Given the description of an element on the screen output the (x, y) to click on. 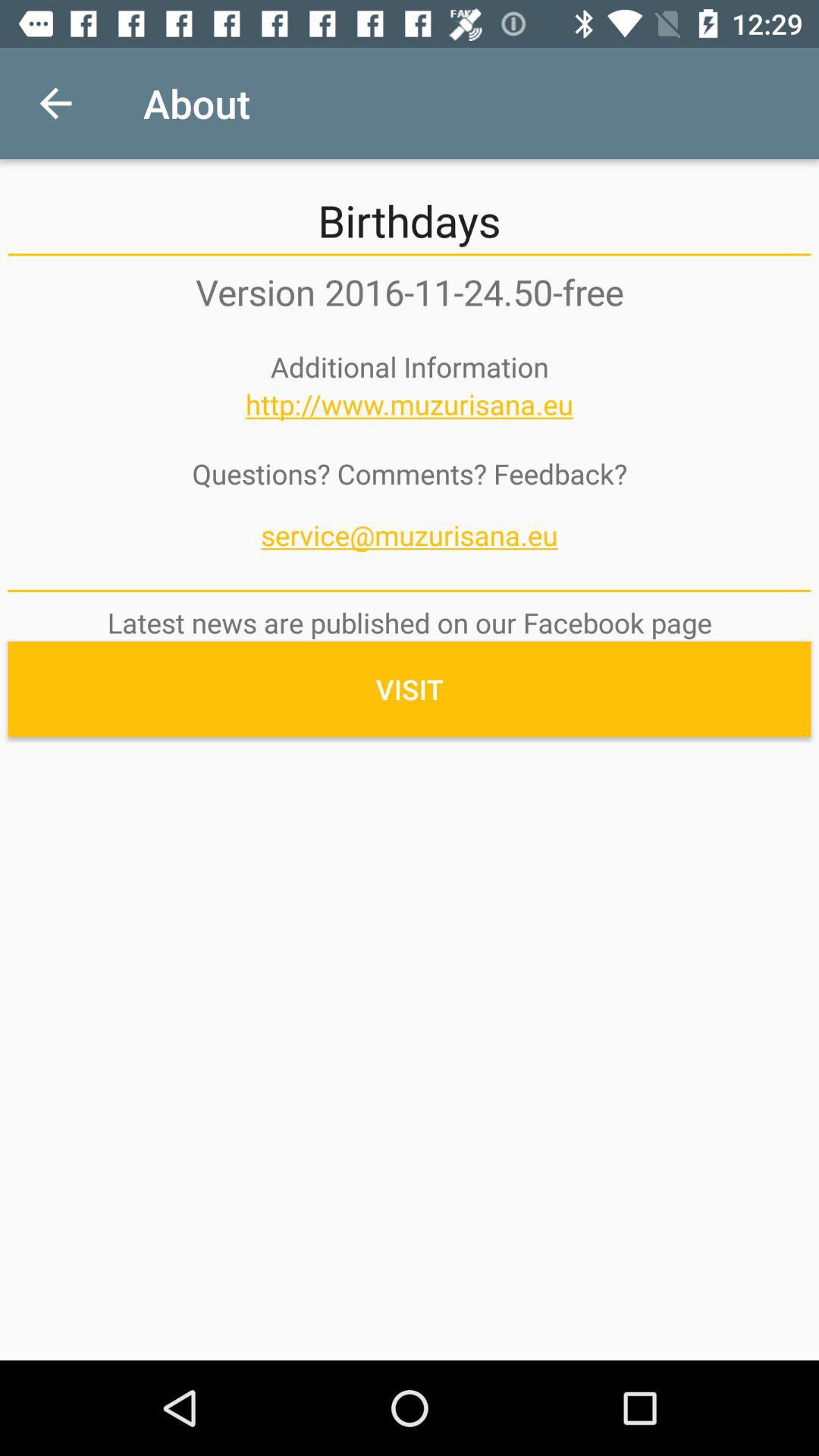
flip to http www muzurisana item (409, 404)
